Given the description of an element on the screen output the (x, y) to click on. 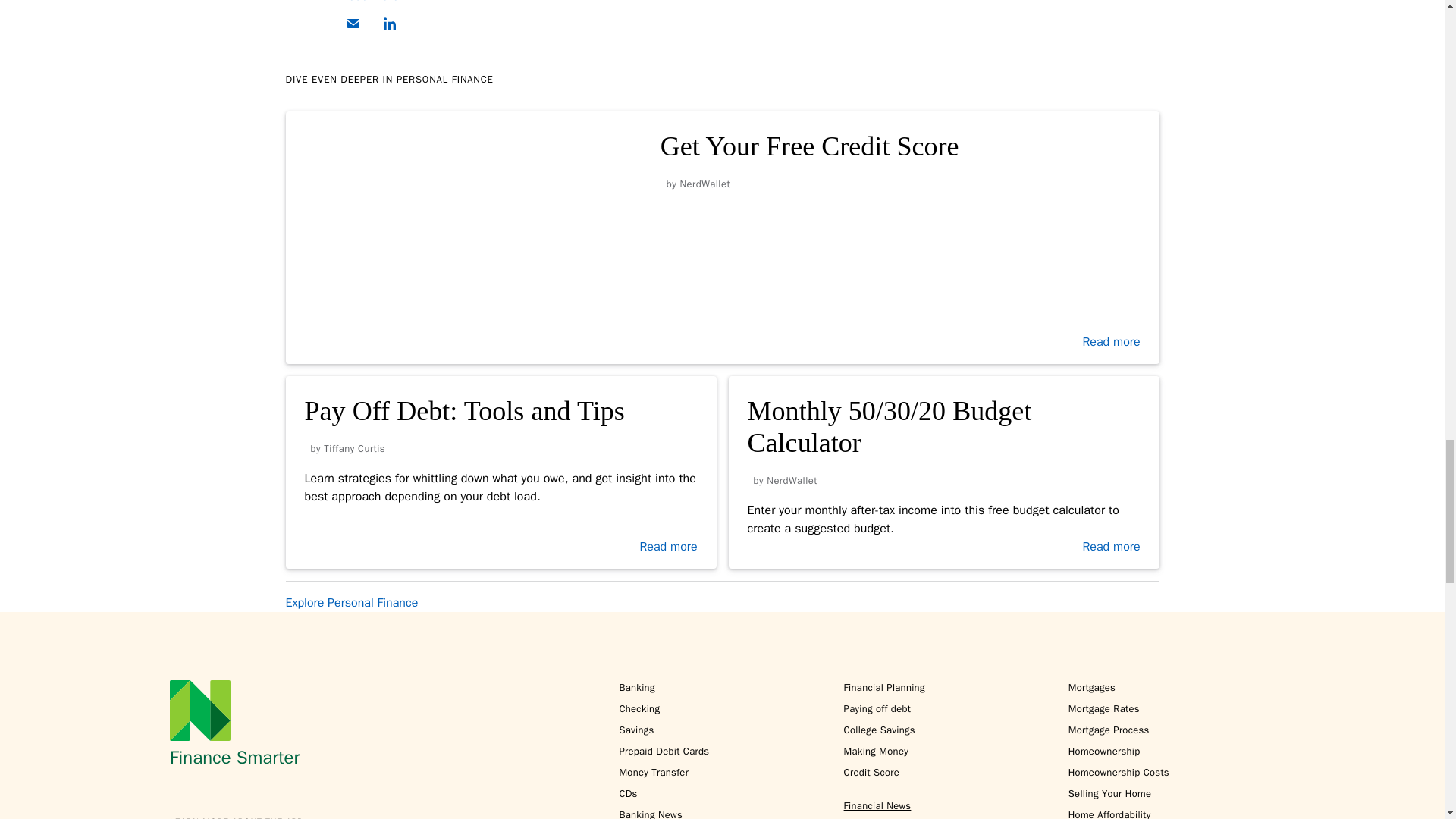
NerdWallet Home Page (200, 710)
